Given the description of an element on the screen output the (x, y) to click on. 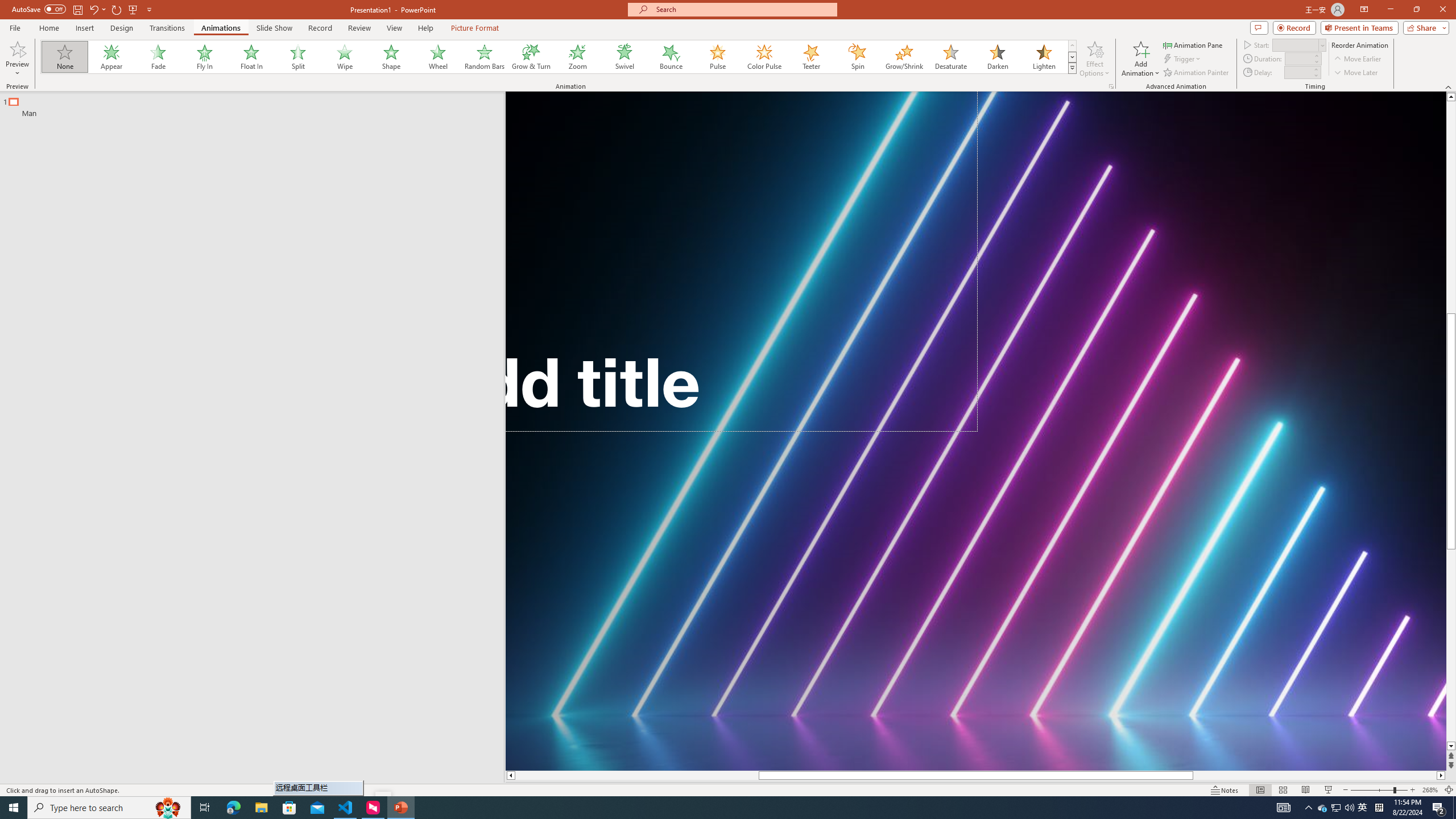
Wheel (437, 56)
Animation Styles (1071, 67)
Animation Pane (1193, 44)
